Given the description of an element on the screen output the (x, y) to click on. 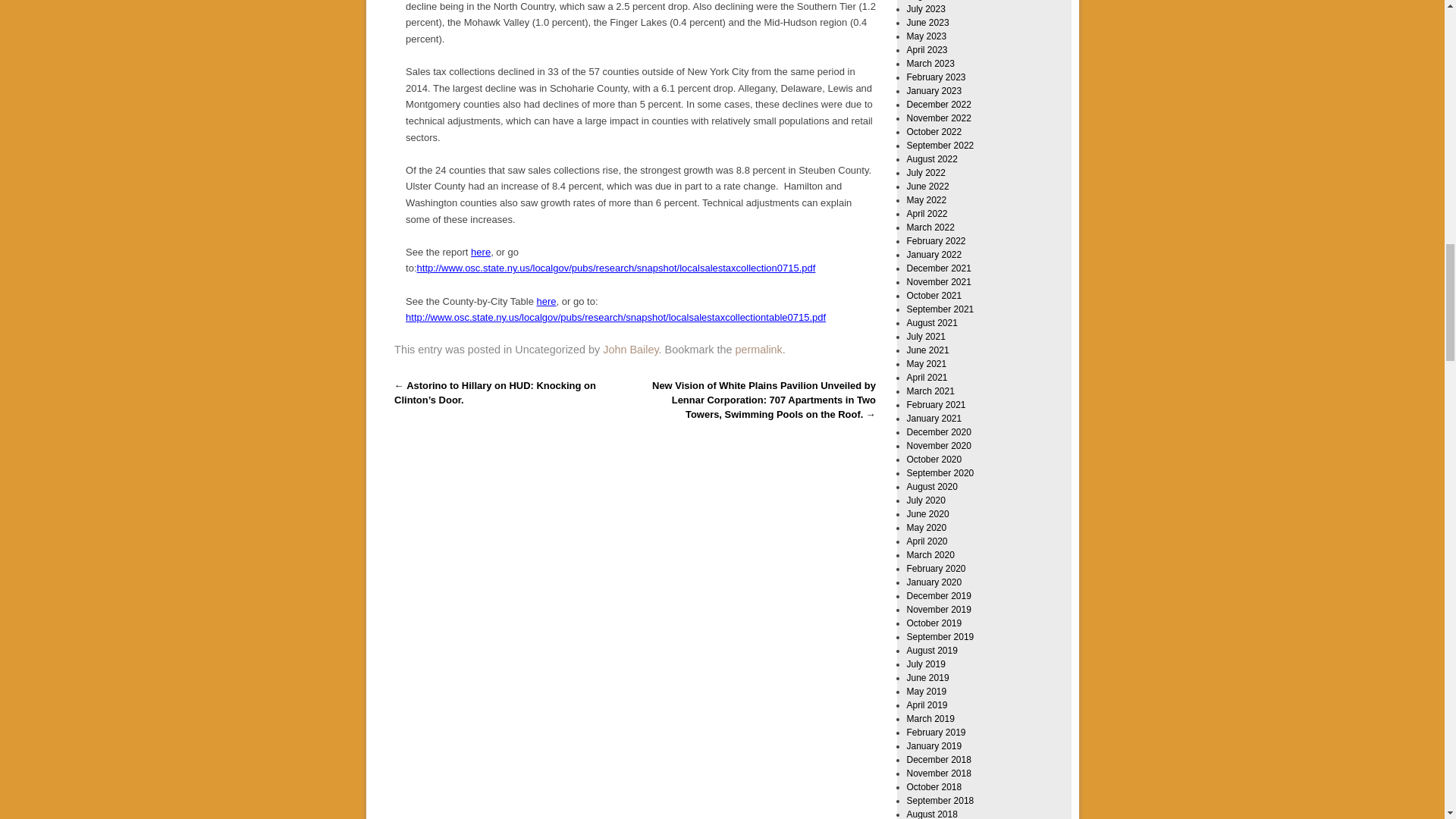
John Bailey (630, 349)
here (546, 300)
here (480, 251)
permalink (758, 349)
